Given the description of an element on the screen output the (x, y) to click on. 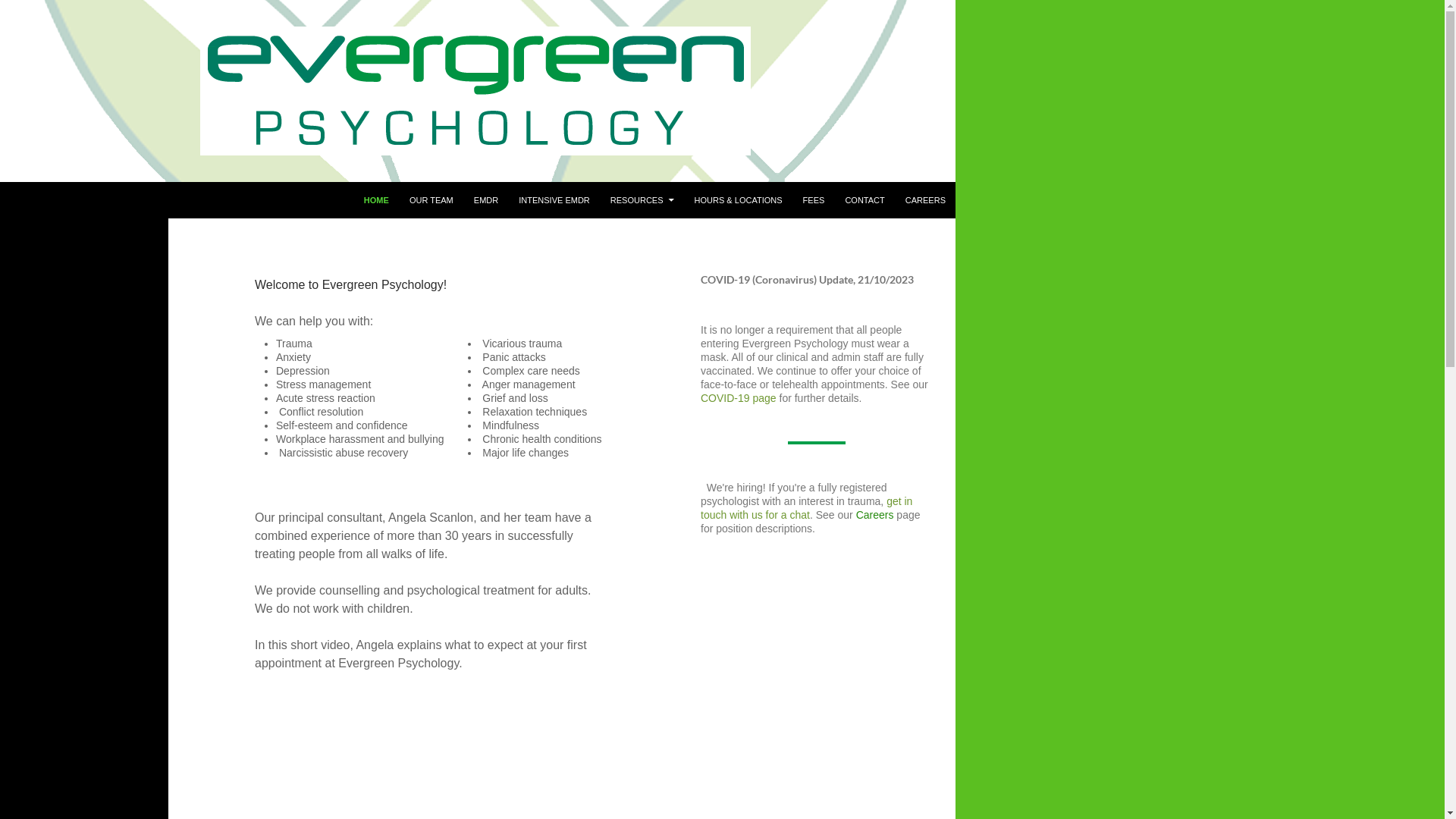
FEES Element type: text (813, 200)
HOME Element type: text (376, 200)
Careers Element type: text (875, 514)
RESOURCES Element type: text (642, 200)
INTENSIVE EMDR Element type: text (554, 200)
SKIP TO CONTENT Element type: text (363, 181)
OUR TEAM Element type: text (431, 200)
HOURS & LOCATIONS Element type: text (738, 200)
EMDR Element type: text (485, 200)
Evergreen Psychology Element type: text (89, 200)
COVID-19 page Element type: text (739, 398)
CONTACT Element type: text (864, 200)
get in touch with us for a chat Element type: text (806, 507)
CAREERS Element type: text (925, 200)
